Given the description of an element on the screen output the (x, y) to click on. 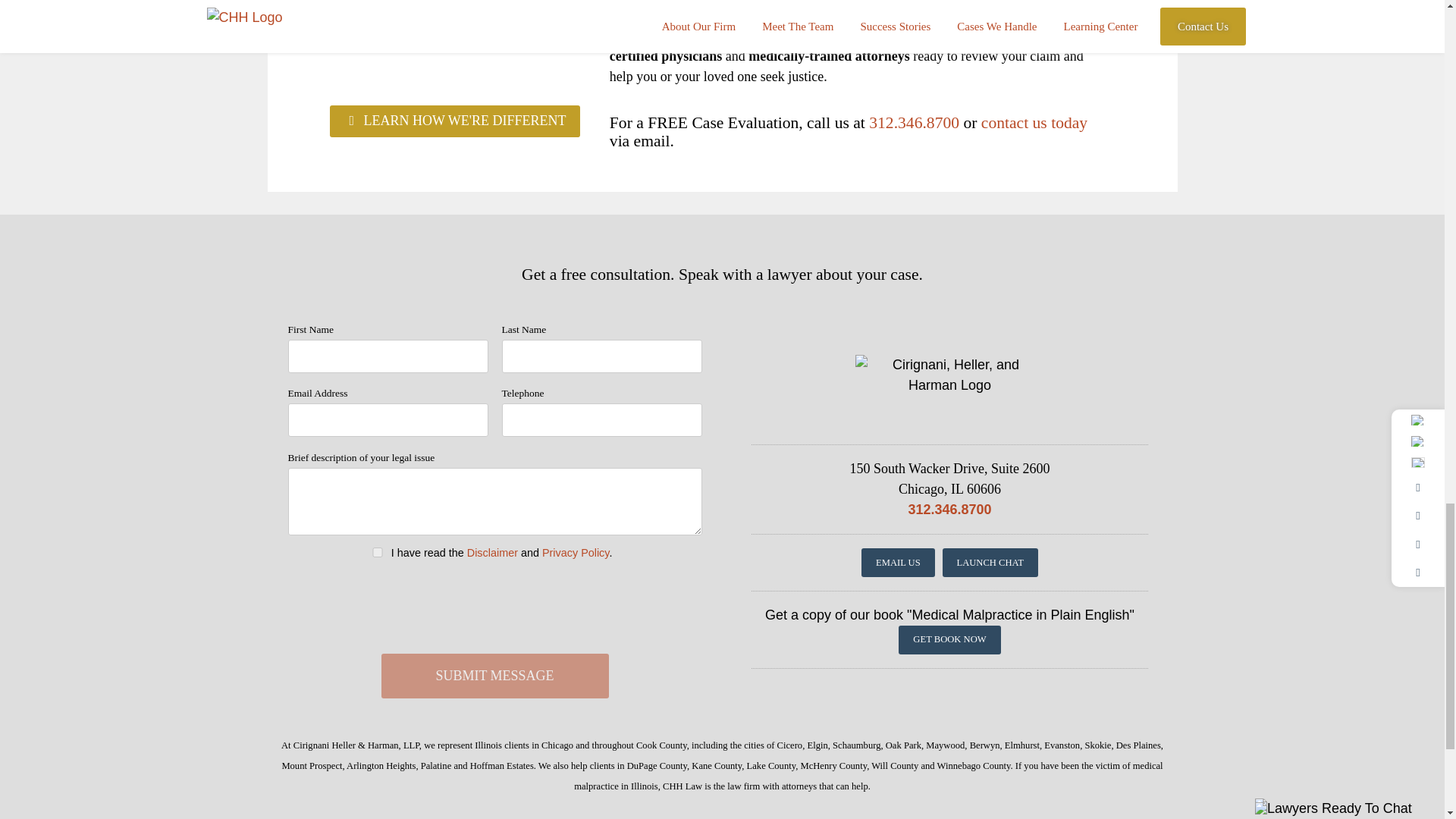
Call Us (914, 122)
I have read the Disclaimer and Privacy Policy (377, 552)
Email Us (1034, 122)
Medical Malpractice (767, 1)
